Given the description of an element on the screen output the (x, y) to click on. 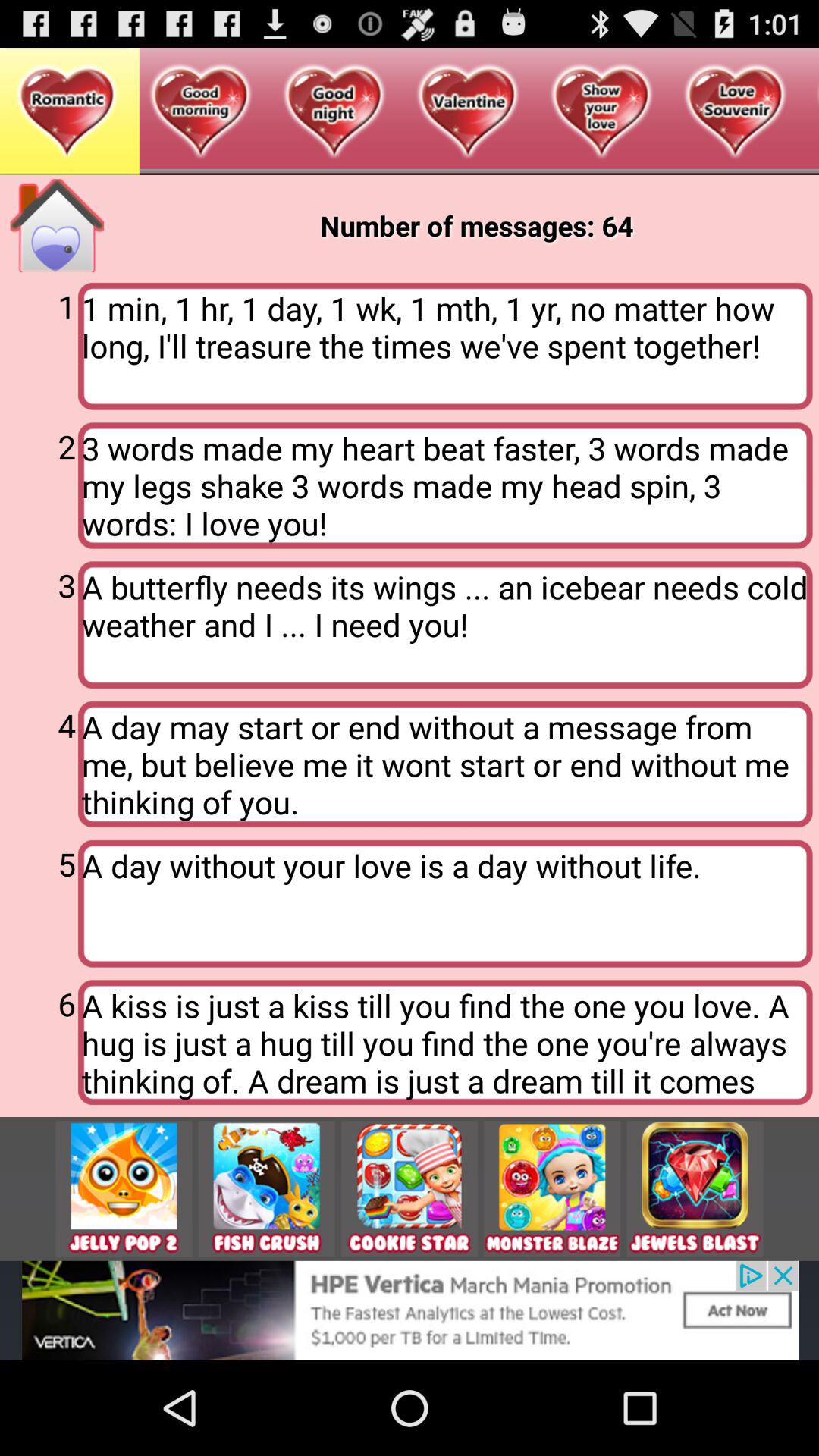
select game (694, 1188)
